Given the description of an element on the screen output the (x, y) to click on. 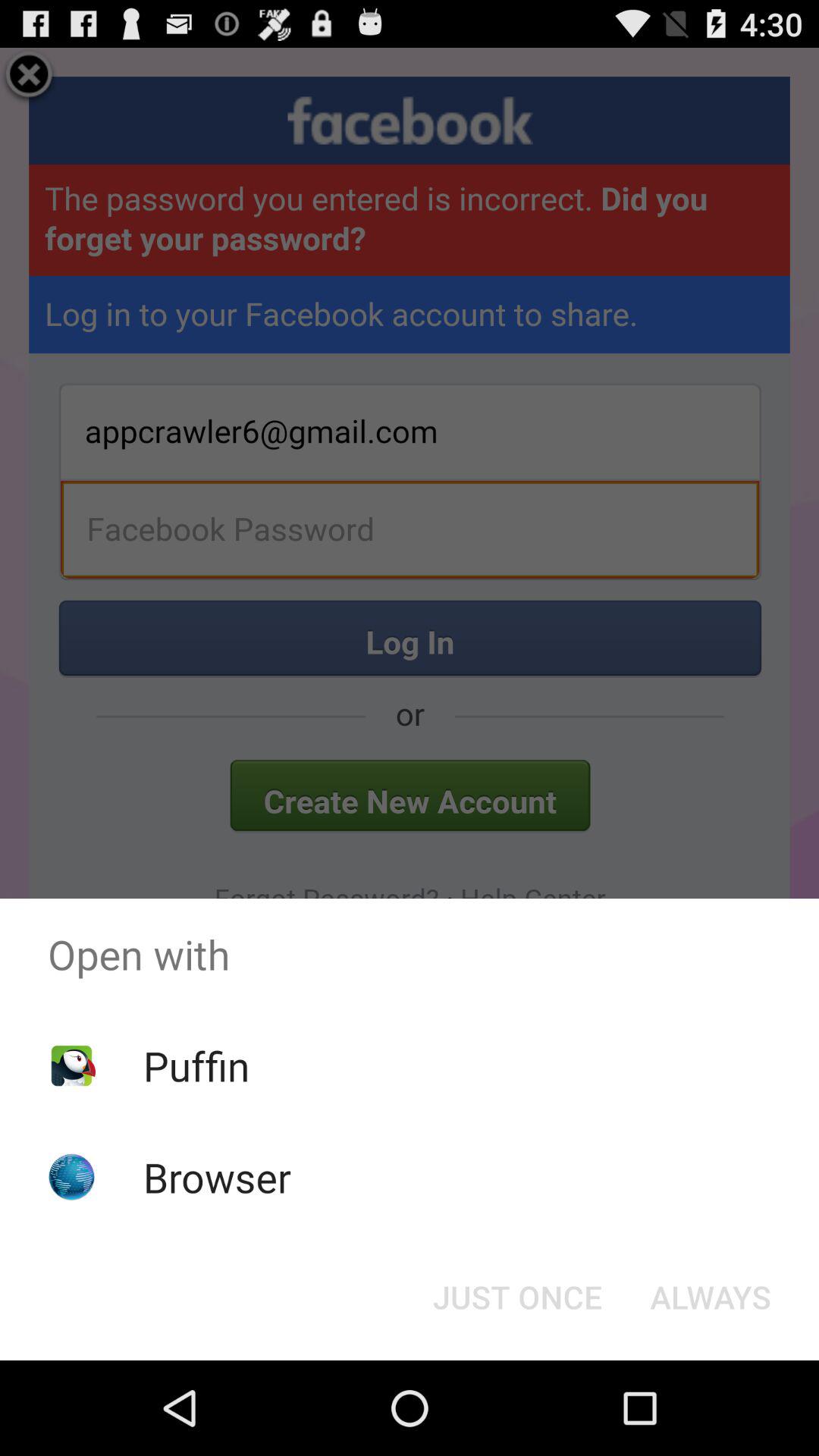
tap the browser icon (217, 1176)
